Given the description of an element on the screen output the (x, y) to click on. 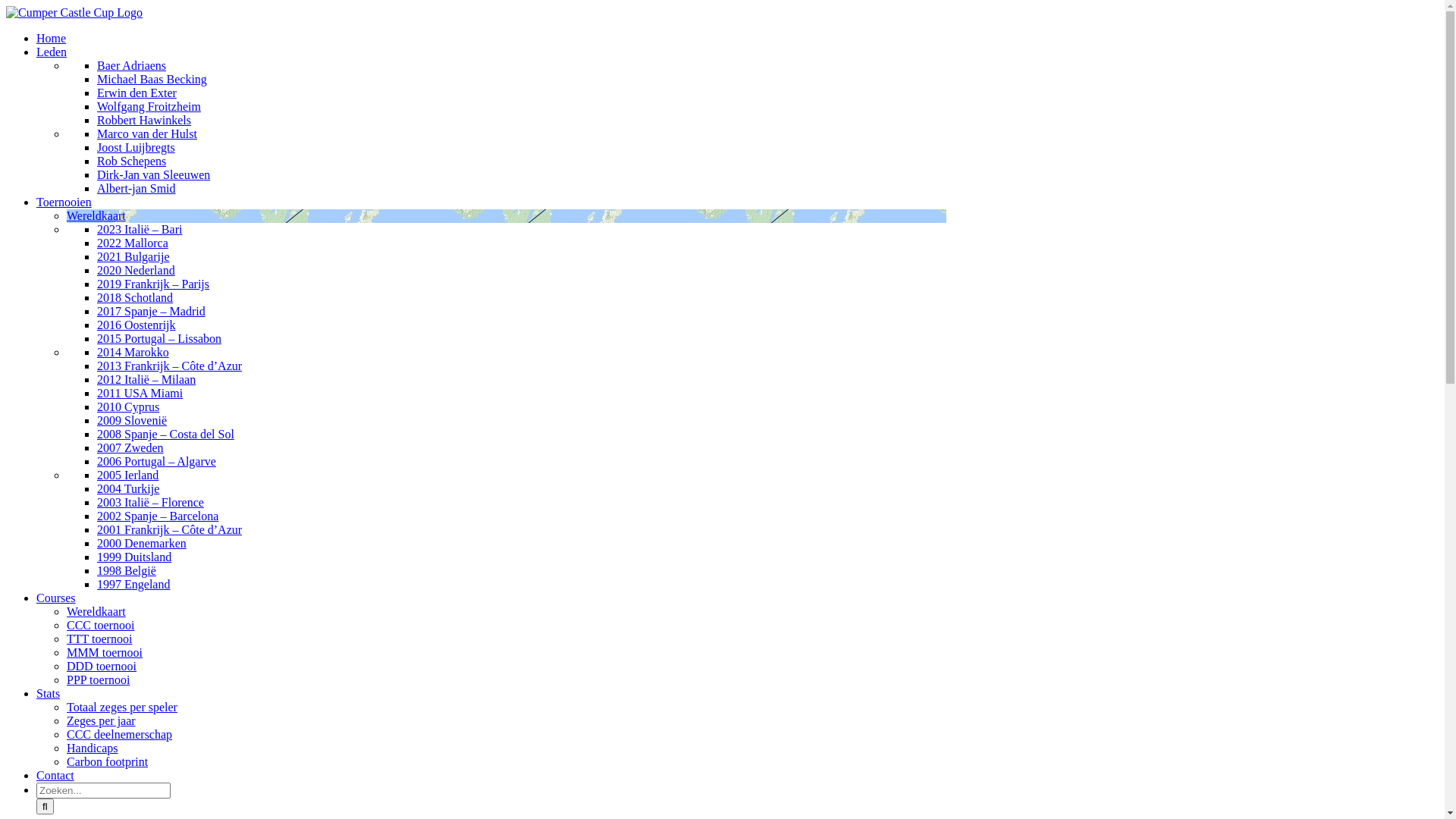
TTT toernooi Element type: text (98, 638)
CCC deelnemerschap Element type: text (119, 734)
MMM toernooi Element type: text (104, 652)
Handicaps Element type: text (92, 747)
2004 Turkije Element type: text (128, 488)
Erwin den Exter Element type: text (136, 92)
PPP toernooi Element type: text (97, 679)
2022 Mallorca Element type: text (132, 242)
Michael Baas Becking Element type: text (152, 78)
1999 Duitsland Element type: text (134, 556)
2011 USA Miami Element type: text (139, 392)
Leden Element type: text (51, 51)
2005 Ierland Element type: text (127, 474)
Contact Element type: text (55, 774)
DDD toernooi Element type: text (101, 665)
2020 Nederland Element type: text (136, 269)
Wolfgang Froitzheim Element type: text (148, 106)
Wereldkaart Element type: text (95, 215)
2007 Zweden Element type: text (130, 447)
Home Element type: text (50, 37)
Zeges per jaar Element type: text (100, 720)
Toernooien Element type: text (63, 201)
Ga naar inhoud Element type: text (5, 5)
2016 Oostenrijk Element type: text (136, 324)
1997 Engeland Element type: text (133, 583)
Courses Element type: text (55, 597)
Marco van der Hulst Element type: text (147, 133)
Rob Schepens Element type: text (131, 160)
Albert-jan Smid Element type: text (136, 188)
Baer Adriaens Element type: text (131, 65)
2014 Marokko Element type: text (133, 351)
2021 Bulgarije Element type: text (133, 256)
Robbert Hawinkels Element type: text (144, 119)
2018 Schotland Element type: text (134, 297)
Wereldkaart Element type: text (95, 611)
Joost Luijbregts Element type: text (136, 147)
Stats Element type: text (47, 693)
CCC toernooi Element type: text (100, 624)
2000 Denemarken Element type: text (141, 542)
Totaal zeges per speler Element type: text (121, 706)
2010 Cyprus Element type: text (128, 406)
Carbon footprint Element type: text (106, 761)
Dirk-Jan van Sleeuwen Element type: text (153, 174)
